Given the description of an element on the screen output the (x, y) to click on. 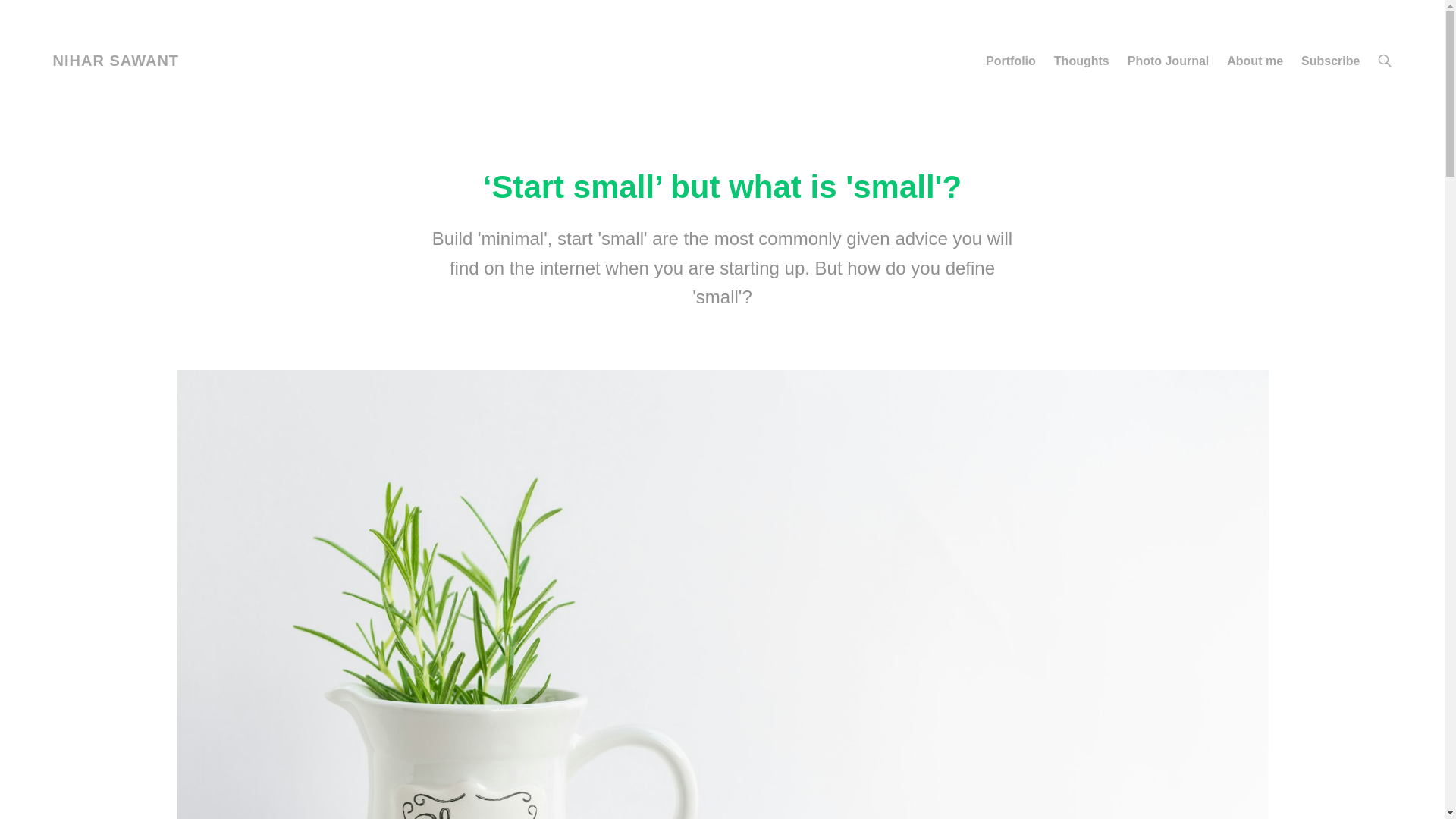
Thoughts (1081, 61)
Photo Journal (1168, 61)
NIHAR SAWANT (115, 60)
Subscribe (1330, 61)
About me (1254, 61)
Portfolio (1010, 61)
